Given the description of an element on the screen output the (x, y) to click on. 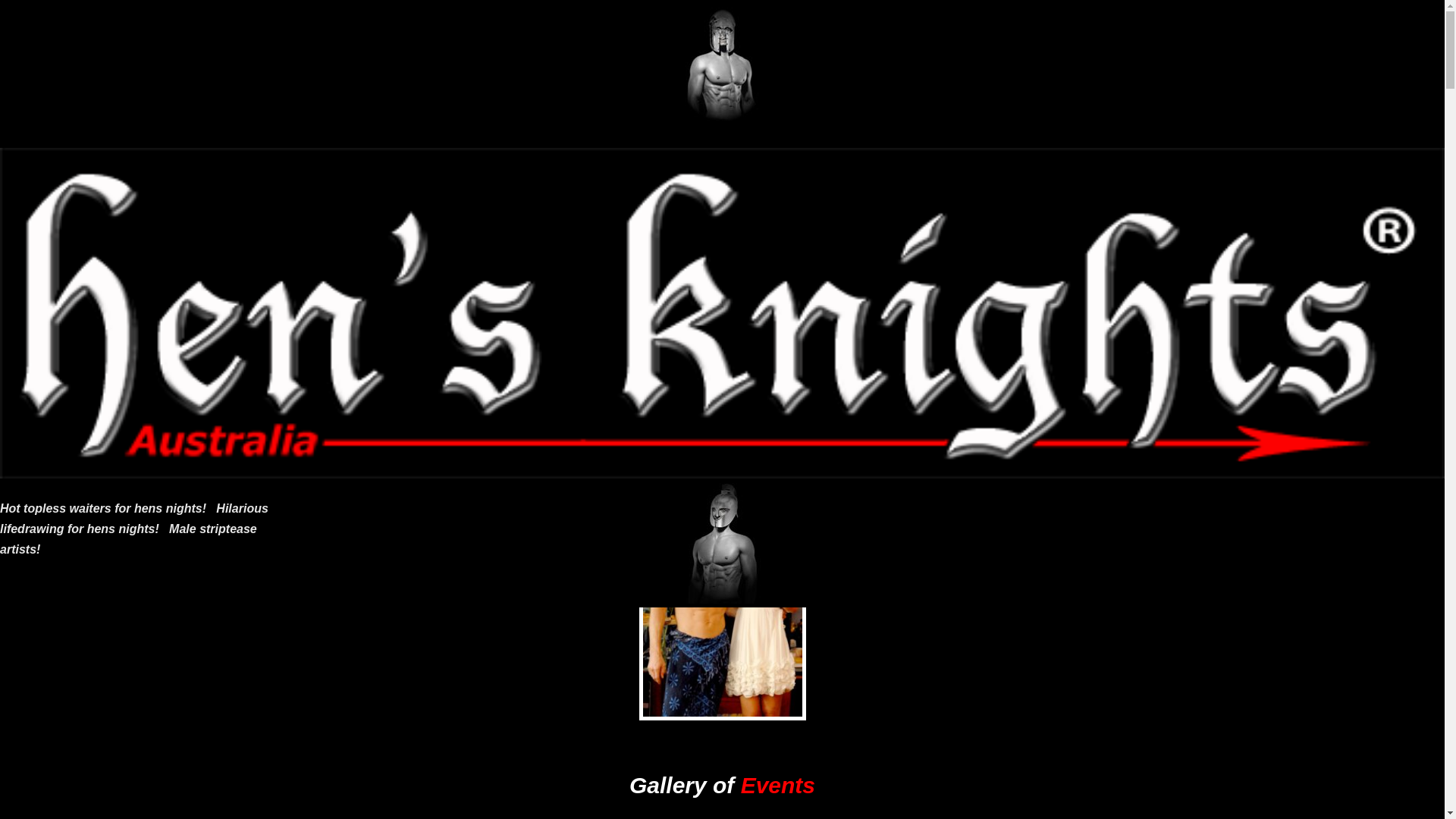
sydney (575, 174)
work with us (135, 408)
lifedrawing venues (347, 408)
brisbane (322, 242)
melbourne (130, 208)
Male Stripper Gallery Model (722, 63)
melbourne (327, 208)
blog (1113, 208)
sydney (121, 174)
rates  (716, 139)
brisbane (942, 156)
topless waiters  (126, 242)
perth (669, 156)
home (572, 310)
